Given the description of an element on the screen output the (x, y) to click on. 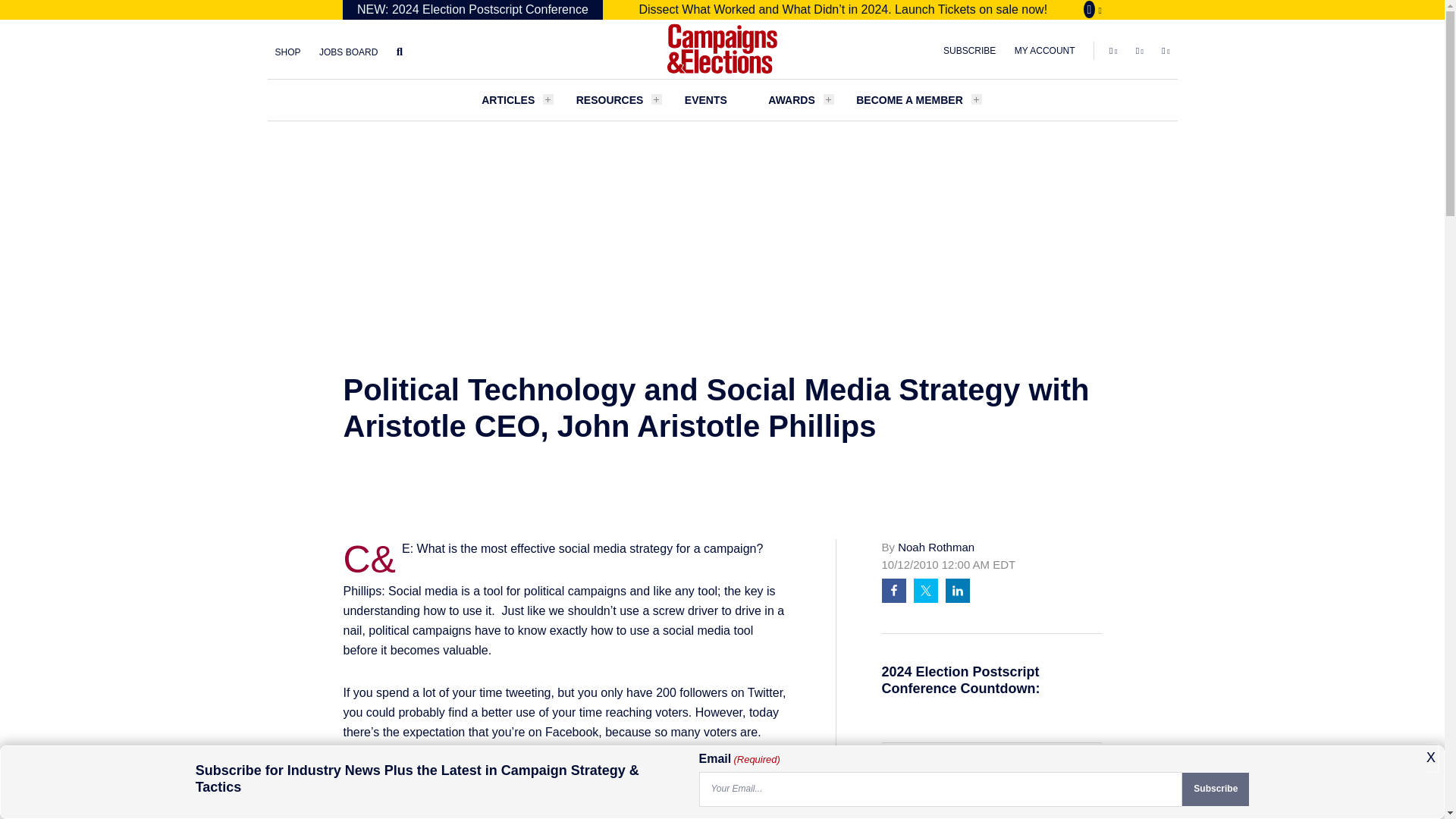
BECOME A MEMBER (909, 99)
Share on LinkedIn (956, 590)
Submenu (656, 99)
AWARDS (790, 99)
Share on Twitter (924, 590)
Get Tickets (1092, 9)
Submenu (829, 99)
ARTICLES (508, 99)
RESOURCES (609, 99)
Subscribe (1215, 789)
TWITTER (1139, 50)
EVENTS (705, 99)
JOBS BOARD (348, 52)
FACEBOOK (1113, 50)
